Given the description of an element on the screen output the (x, y) to click on. 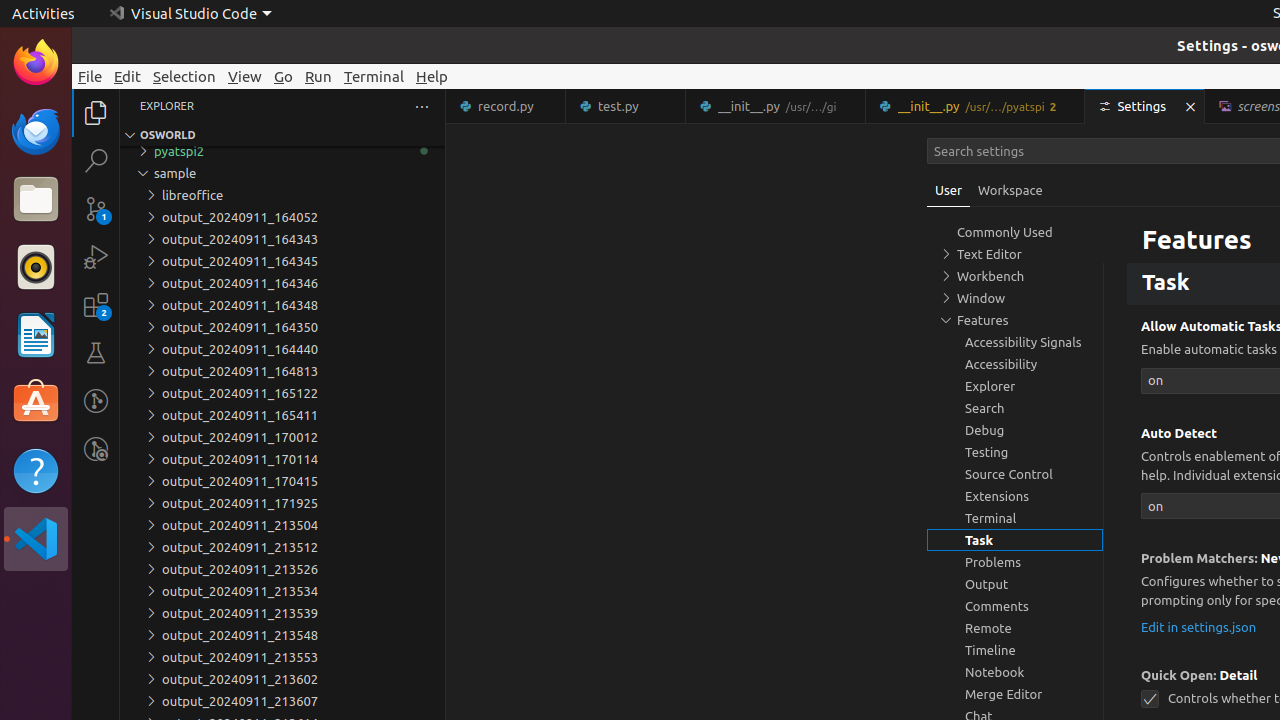
Terminal Element type: push-button (374, 76)
libreoffice Element type: tree-item (282, 195)
Workspace Element type: check-box (1010, 190)
Debug, group Element type: tree-item (1015, 430)
